Given the description of an element on the screen output the (x, y) to click on. 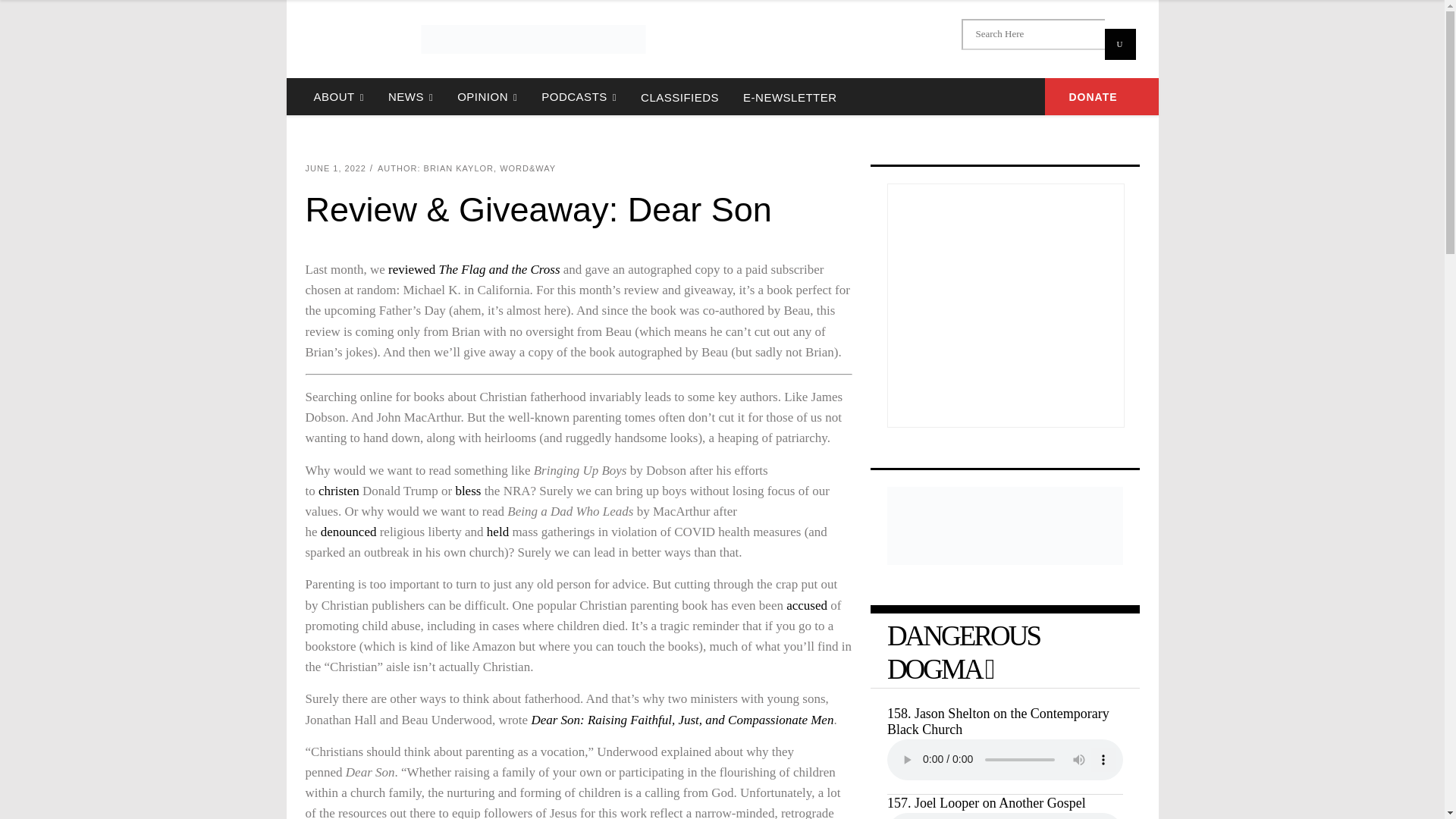
U (1119, 43)
U (1119, 43)
DONATE (1101, 96)
ABOUT (338, 96)
E-NEWSLETTER (789, 96)
NEWS (410, 96)
OPINION (487, 96)
U (1119, 43)
CLASSIFIEDS (679, 96)
PODCASTS (578, 96)
